Given the description of an element on the screen output the (x, y) to click on. 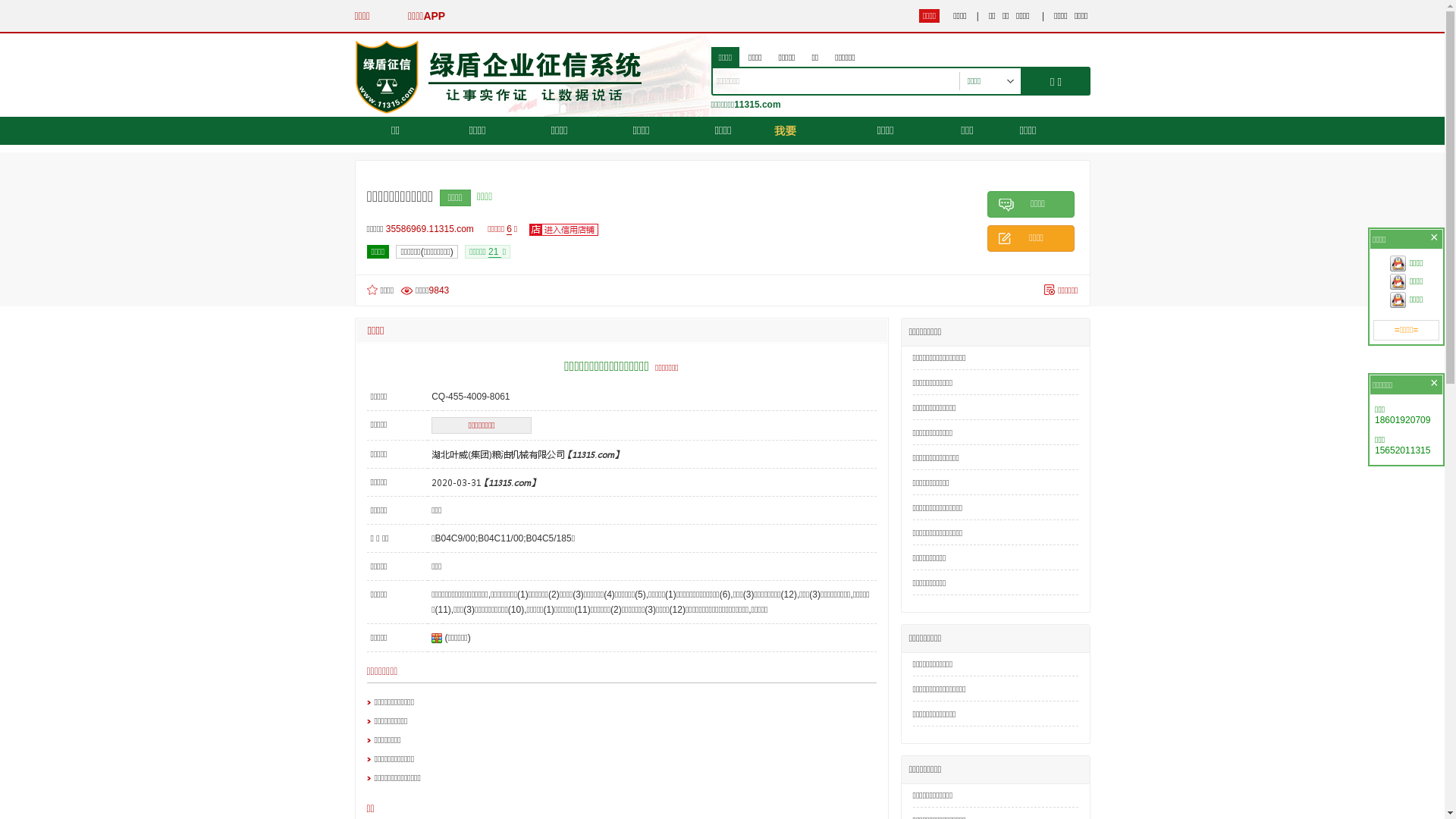
35586969.11315.com Element type: text (433, 228)
